Given the description of an element on the screen output the (x, y) to click on. 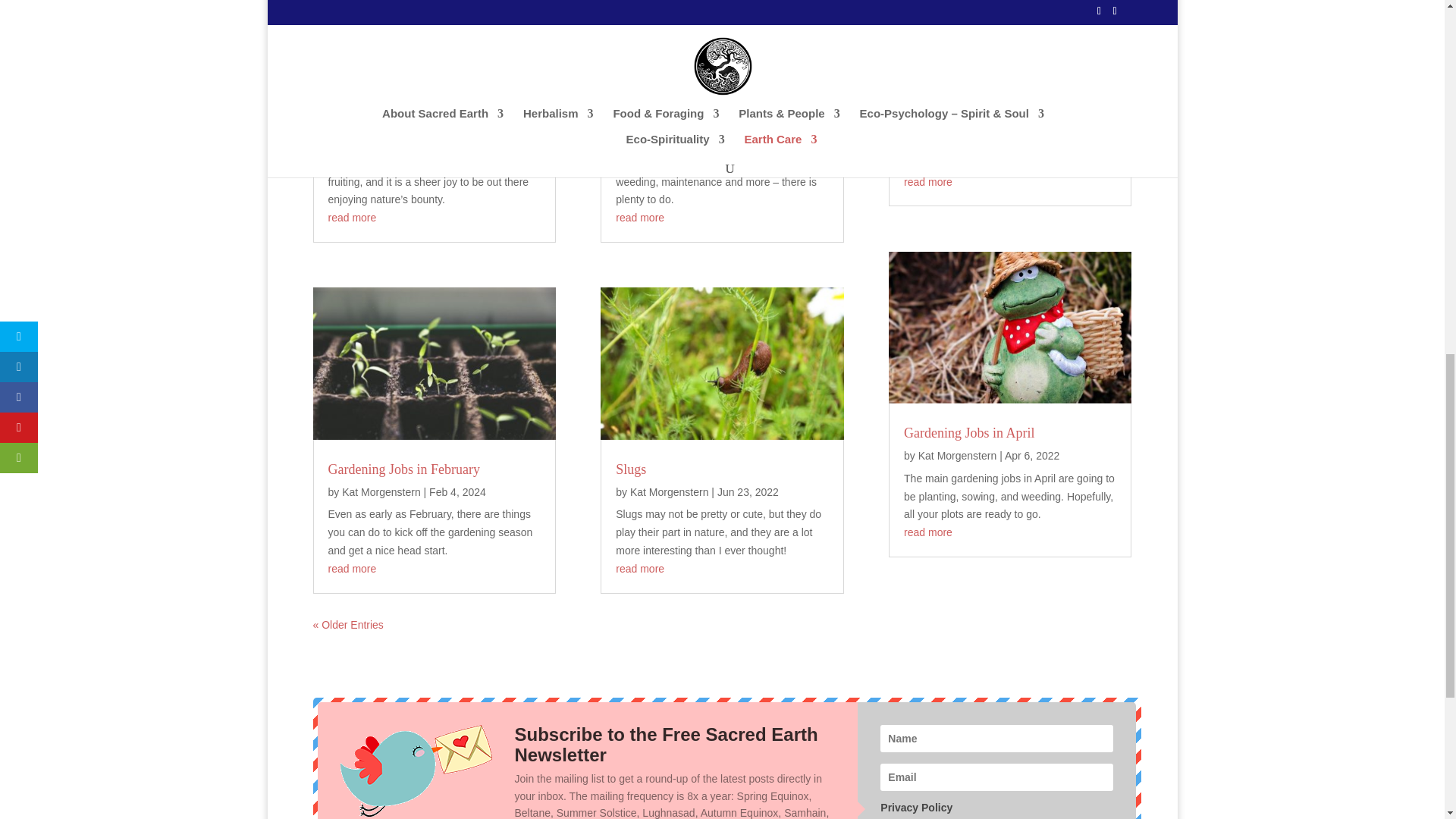
Posts by Kat Morgenstern (957, 455)
Posts by Kat Morgenstern (957, 104)
Posts by Kat Morgenstern (381, 491)
Posts by Kat Morgenstern (381, 104)
Posts by Kat Morgenstern (669, 104)
Posts by Kat Morgenstern (669, 491)
